Given the description of an element on the screen output the (x, y) to click on. 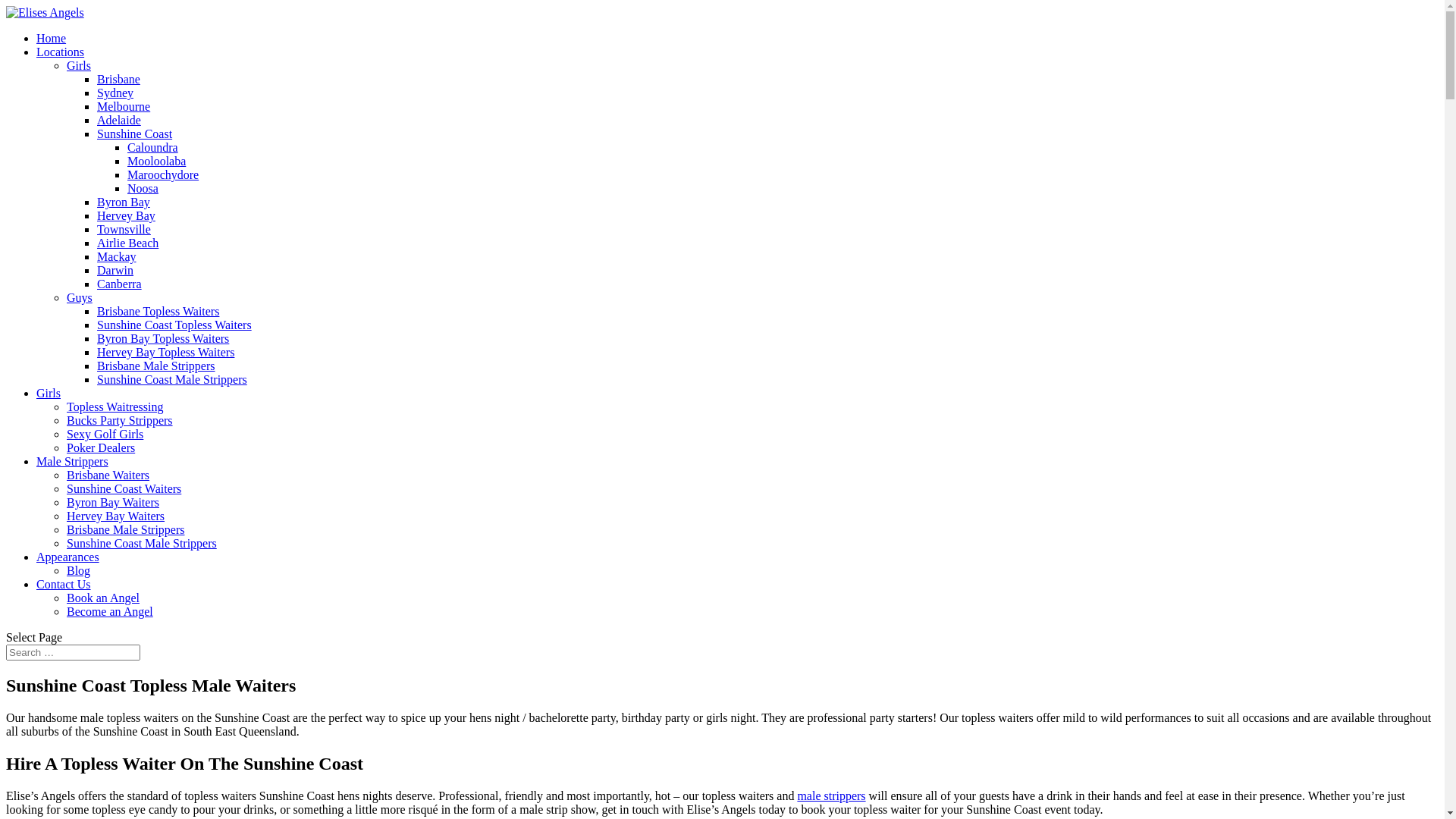
Brisbane Waiters Element type: text (107, 474)
Hervey Bay Waiters Element type: text (115, 515)
Become an Angel Element type: text (109, 611)
Brisbane Male Strippers Element type: text (156, 365)
Appearances Element type: text (67, 556)
Locations Element type: text (60, 51)
Hervey Bay Topless Waiters Element type: text (165, 351)
Hervey Bay Element type: text (126, 215)
Blog Element type: text (78, 570)
Mackay Element type: text (116, 256)
Girls Element type: text (78, 65)
Contact Us Element type: text (63, 583)
Sydney Element type: text (115, 92)
Male Strippers Element type: text (72, 461)
Canberra Element type: text (119, 283)
Sunshine Coast Element type: text (134, 133)
Airlie Beach Element type: text (127, 242)
Townsville Element type: text (123, 228)
Girls Element type: text (48, 392)
Bucks Party Strippers Element type: text (119, 420)
Darwin Element type: text (115, 269)
Topless Waitressing Element type: text (114, 406)
Guys Element type: text (79, 297)
Poker Dealers Element type: text (100, 447)
Sunshine Coast Male Strippers Element type: text (141, 542)
Sunshine Coast Male Strippers Element type: text (172, 379)
Byron Bay Waiters Element type: text (112, 501)
Sunshine Coast Topless Waiters Element type: text (174, 324)
Melbourne Element type: text (123, 106)
Byron Bay Topless Waiters Element type: text (163, 338)
Mooloolaba Element type: text (156, 160)
Byron Bay Element type: text (123, 201)
Adelaide Element type: text (119, 119)
Brisbane Male Strippers Element type: text (125, 529)
Noosa Element type: text (142, 188)
Sexy Golf Girls Element type: text (104, 433)
Maroochydore Element type: text (162, 174)
Sunshine Coast Waiters Element type: text (123, 488)
Home Element type: text (50, 37)
male strippers Element type: text (831, 795)
Book an Angel Element type: text (102, 597)
Brisbane Topless Waiters Element type: text (158, 310)
Search for: Element type: hover (73, 652)
Caloundra Element type: text (152, 147)
Brisbane Element type: text (118, 78)
